Given the description of an element on the screen output the (x, y) to click on. 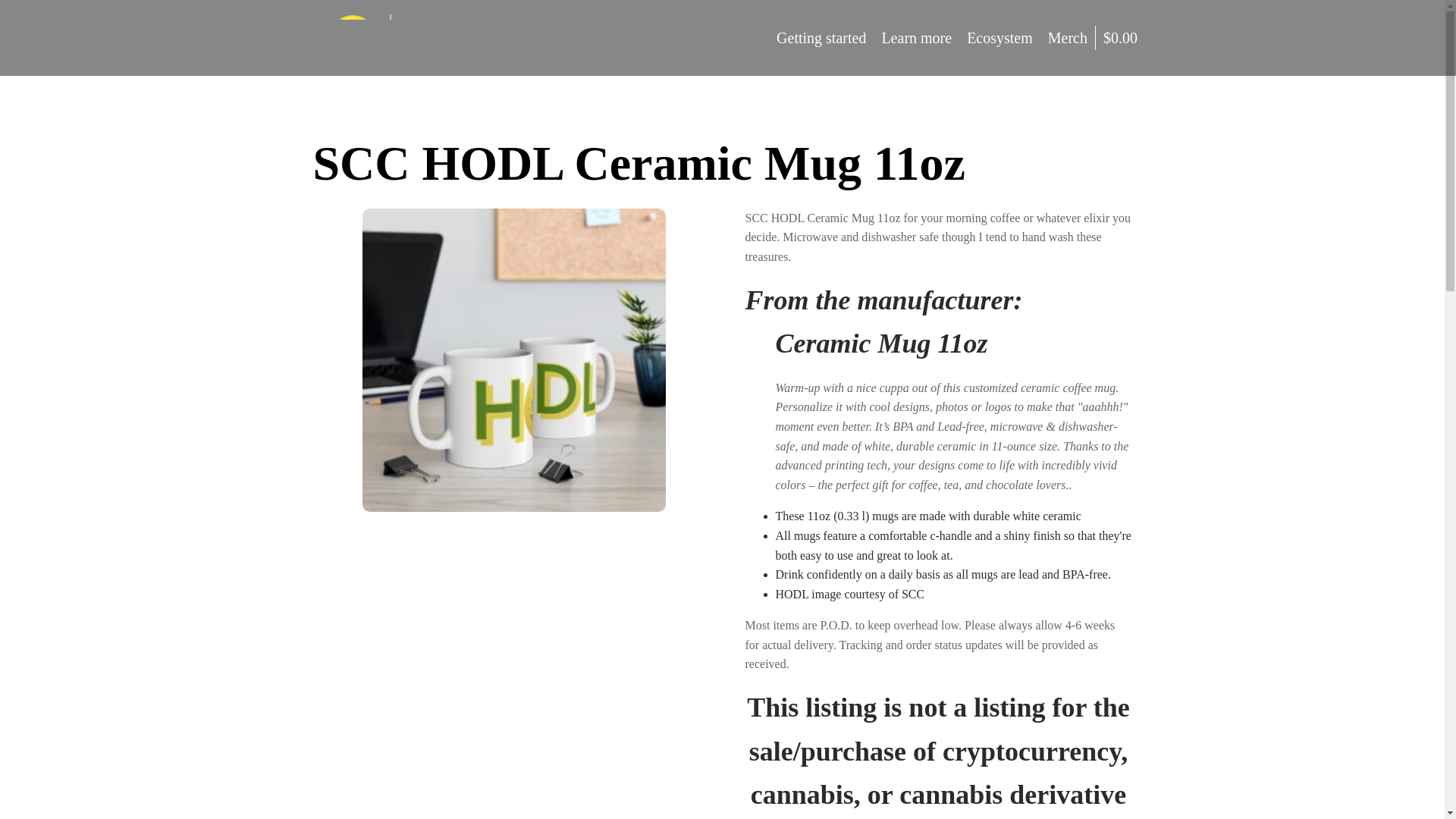
Ecosystem (1000, 37)
Learn more (916, 37)
Getting started (820, 37)
Merch (1067, 37)
